Given the description of an element on the screen output the (x, y) to click on. 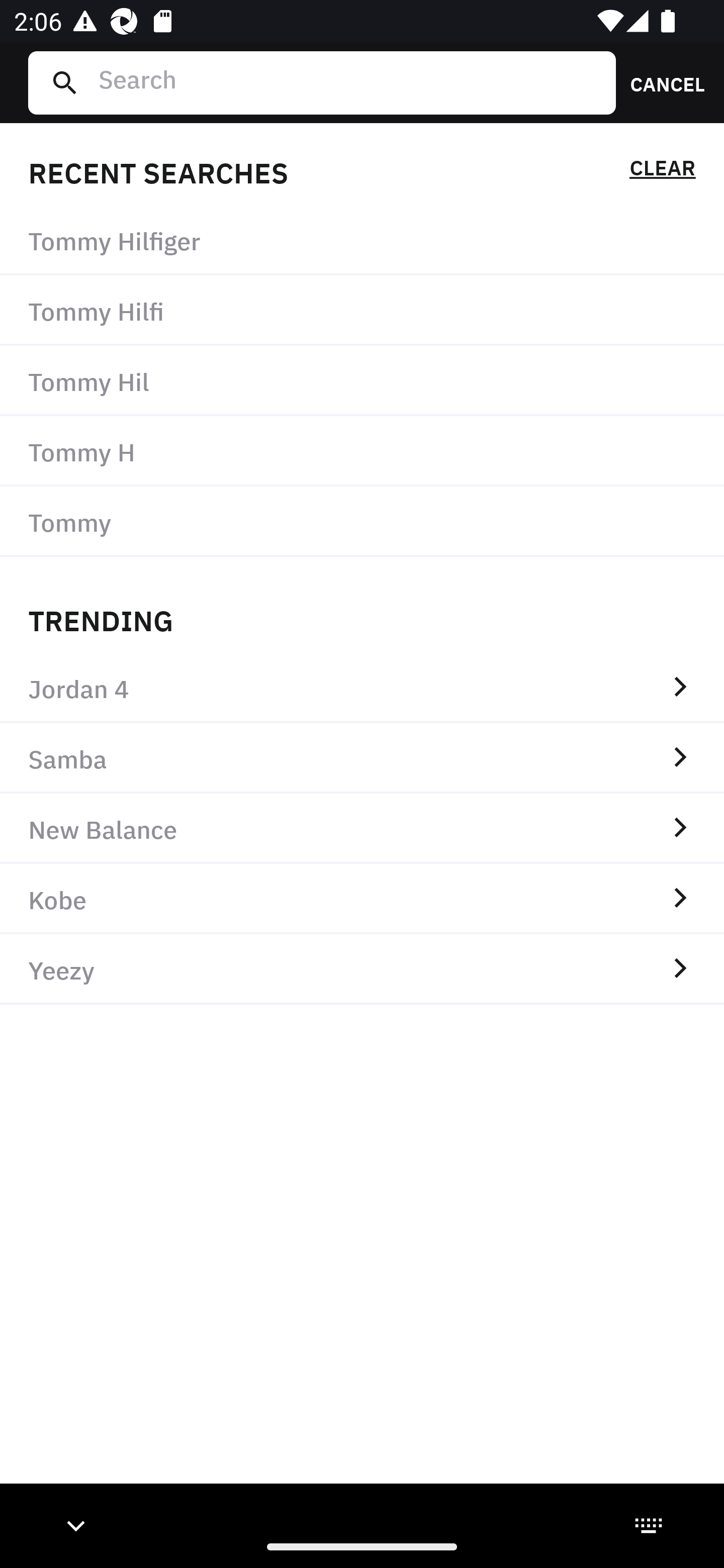
CANCEL (660, 82)
Search (349, 82)
CLEAR (662, 170)
Tommy Hilfiger (362, 240)
Tommy Hilfi (362, 310)
Tommy Hil (362, 380)
Tommy H (362, 450)
Tommy  (362, 521)
Jordan 4  (362, 687)
Samba  (362, 757)
New Balance  (362, 828)
Kobe  (362, 898)
Yeezy  (362, 969)
